Given the description of an element on the screen output the (x, y) to click on. 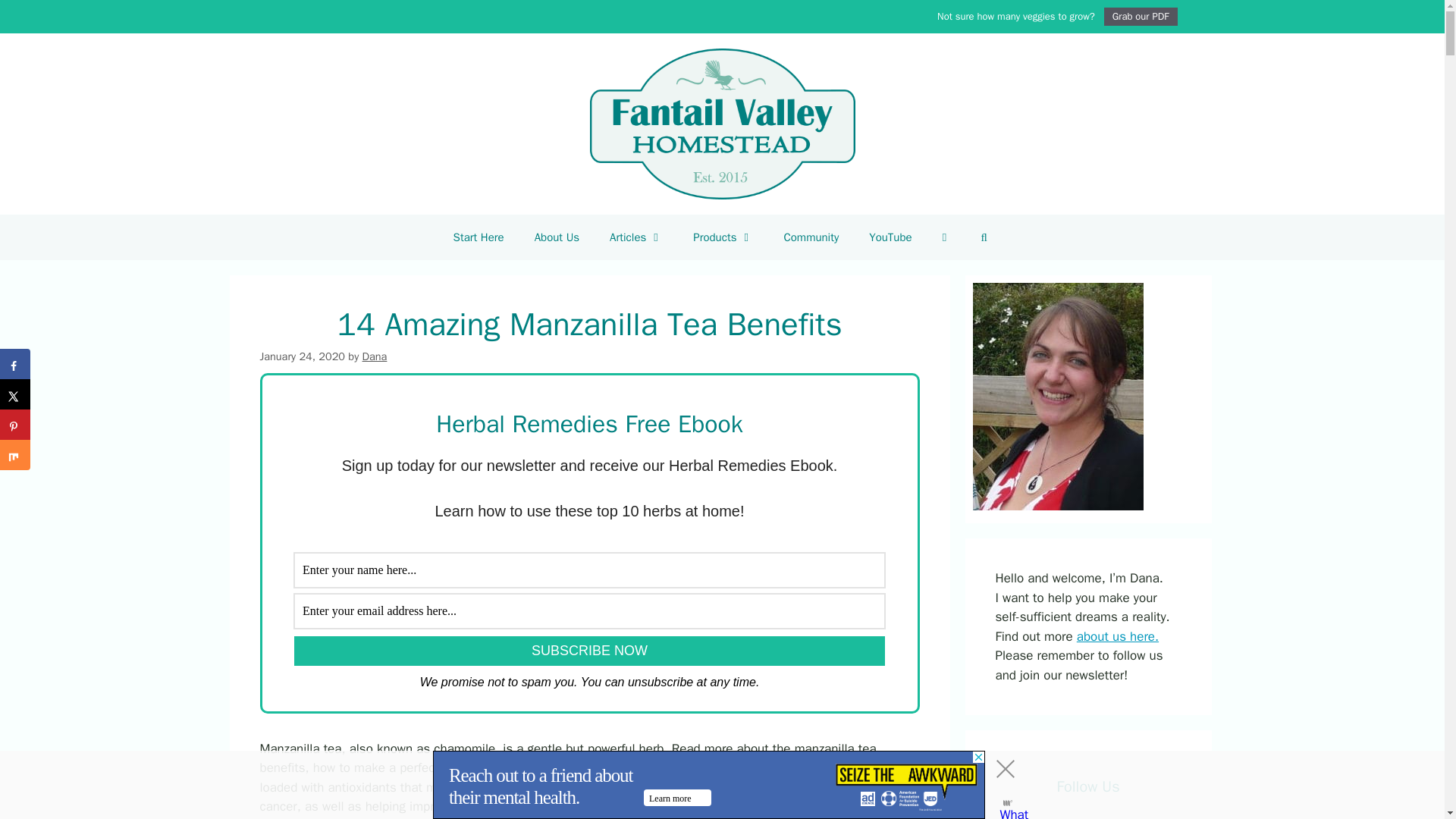
Subscribe Now (589, 650)
View all posts by Dana (374, 356)
Grab our PDF (1140, 16)
Grab our PDF (1156, 15)
